Given the description of an element on the screen output the (x, y) to click on. 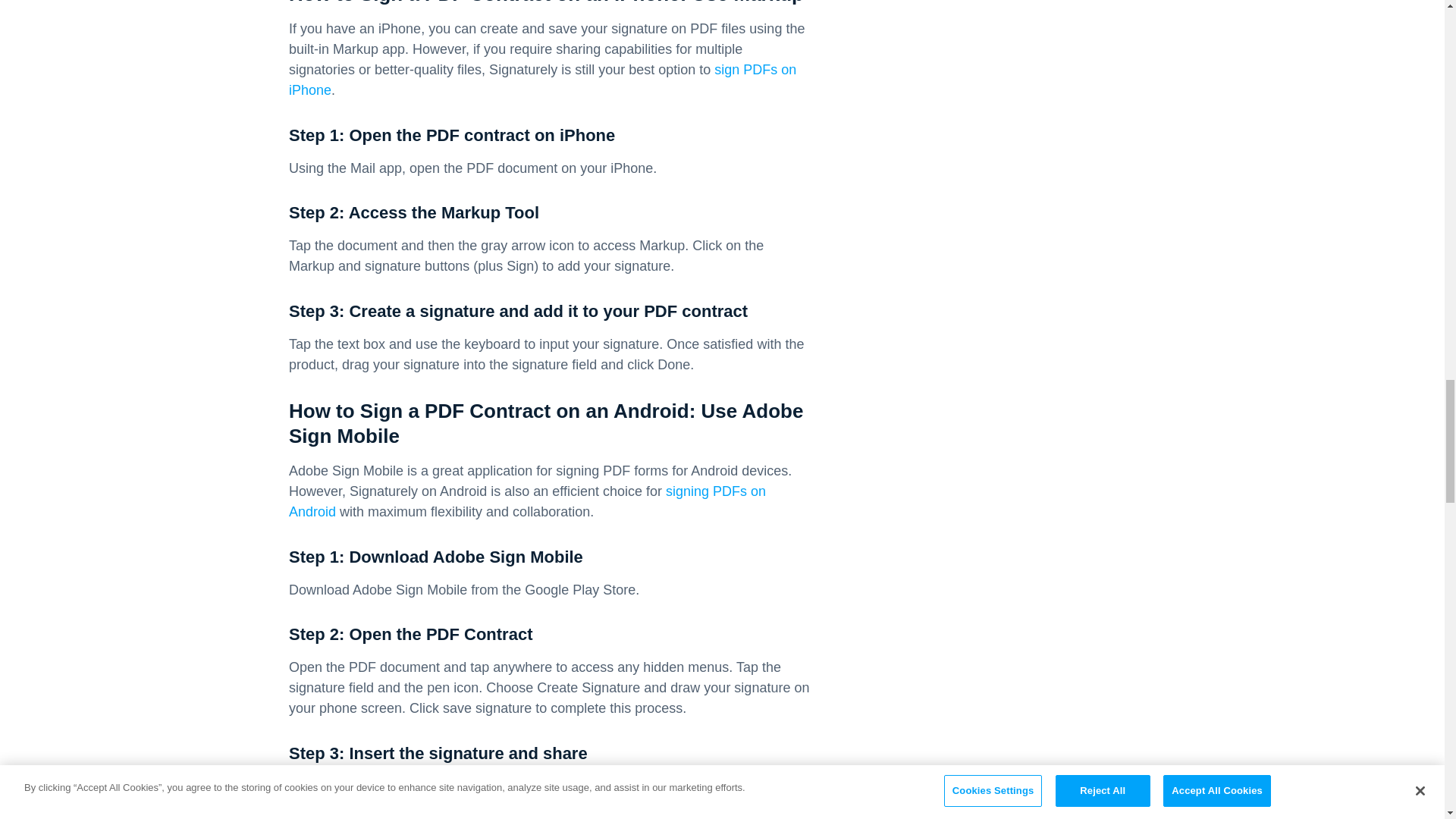
signing PDFs on Android (526, 501)
sign PDFs on iPhone (542, 79)
